Given the description of an element on the screen output the (x, y) to click on. 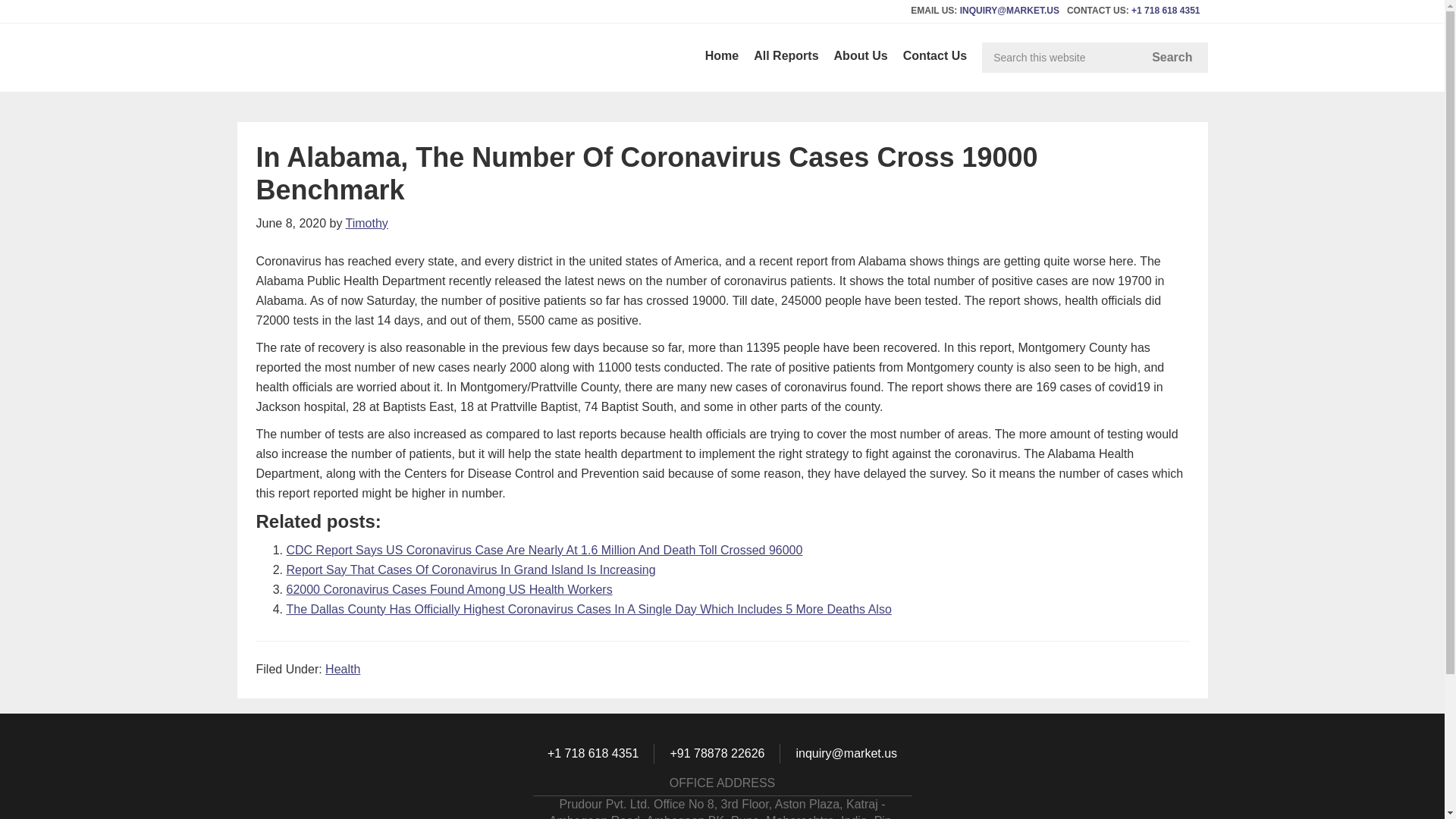
About Us (861, 54)
Contact Us (934, 54)
62000 Coronavirus Cases Found Among US Health Workers (449, 589)
Chemical Market Reports (349, 56)
Search (1172, 57)
Health (341, 668)
